Given the description of an element on the screen output the (x, y) to click on. 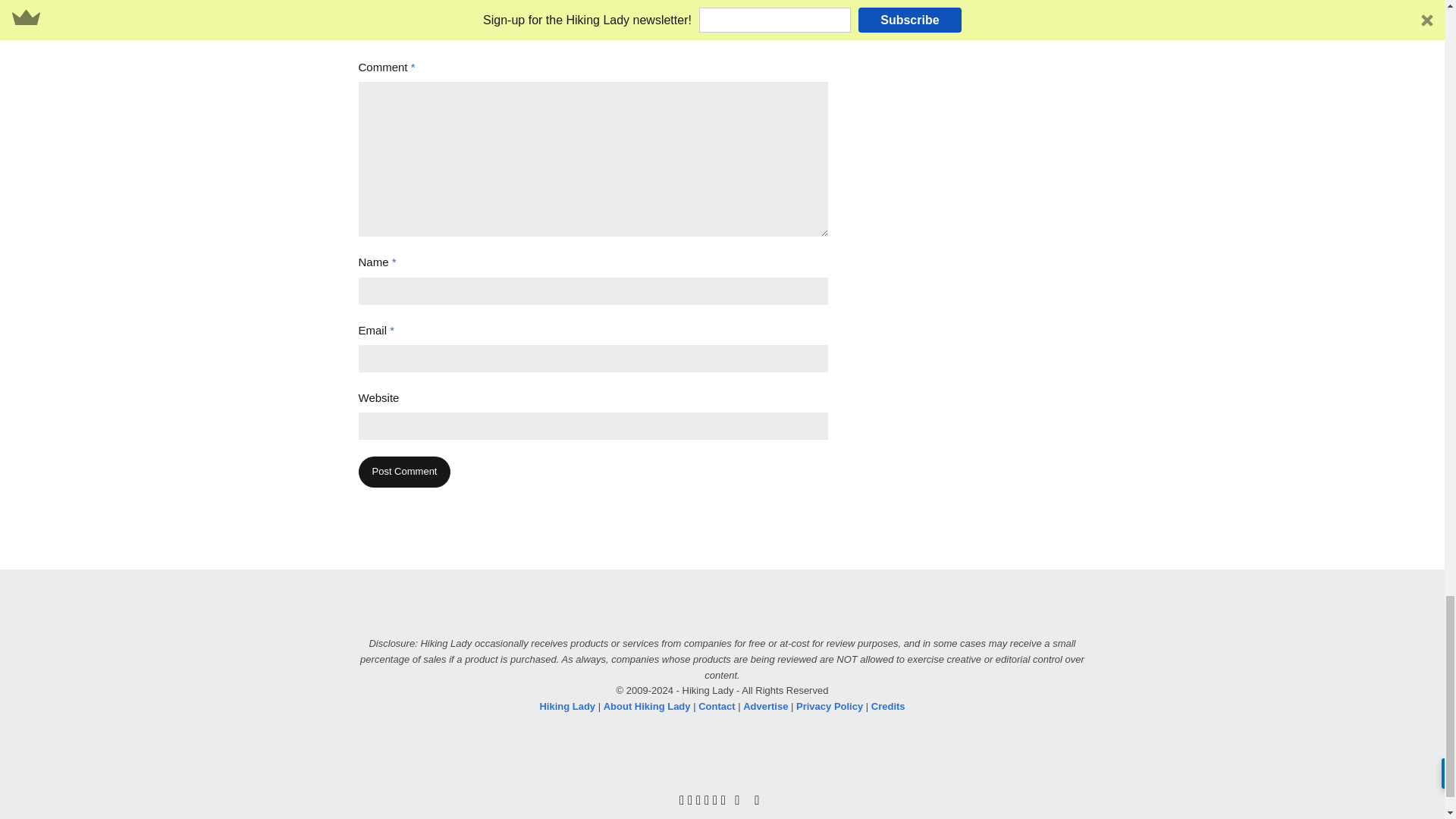
Post Comment (403, 471)
